Given the description of an element on the screen output the (x, y) to click on. 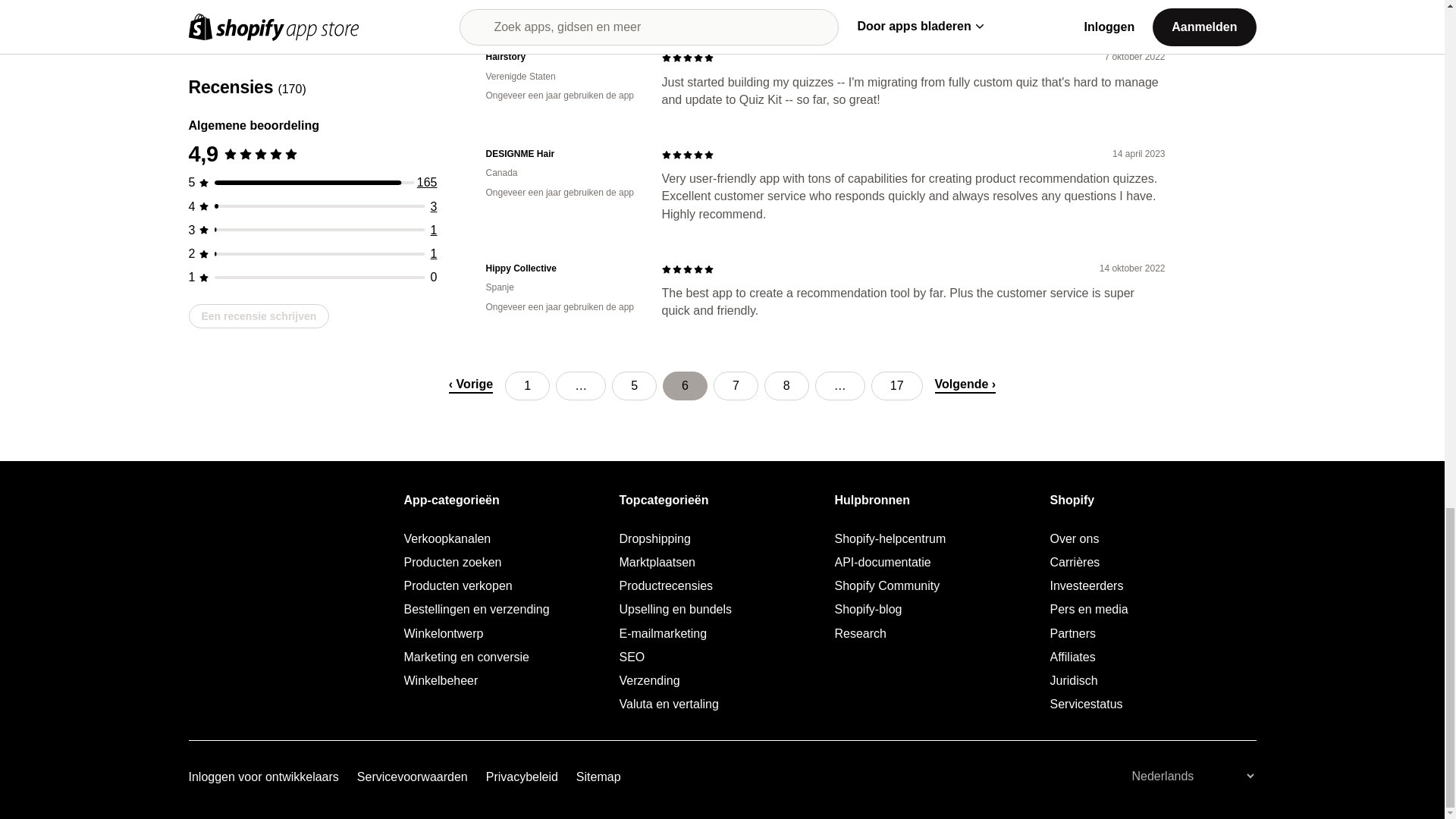
Hairstory (560, 56)
DESIGNME Hair (560, 154)
Hippy Collective (560, 268)
